Given the description of an element on the screen output the (x, y) to click on. 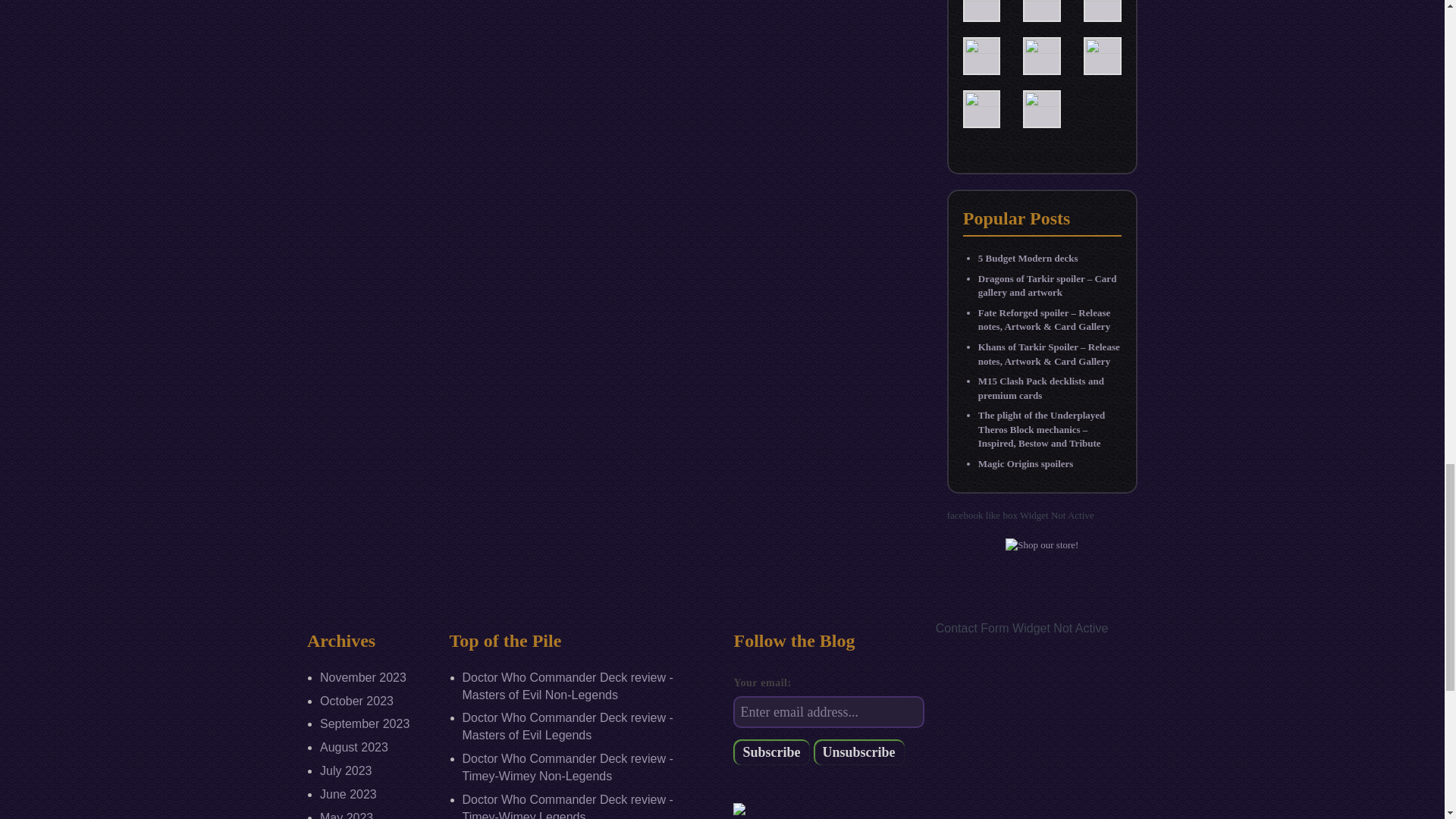
Professor Bamboo (1042, 4)
Norman Fried (981, 4)
Unsubscribe (858, 751)
Subscribe (771, 751)
Enter email address... (828, 712)
